Given the description of an element on the screen output the (x, y) to click on. 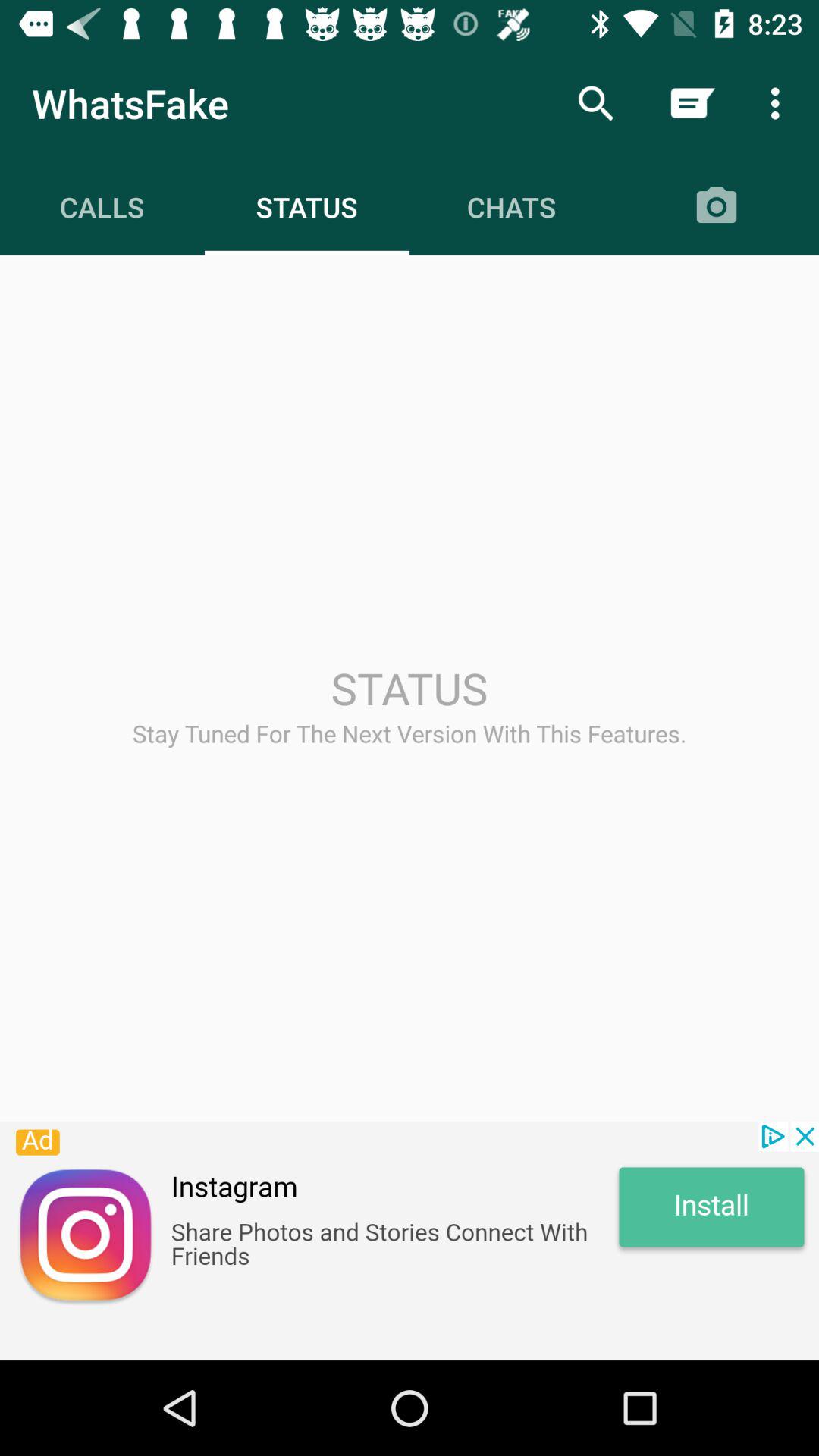
view the advertisement (409, 1240)
